Given the description of an element on the screen output the (x, y) to click on. 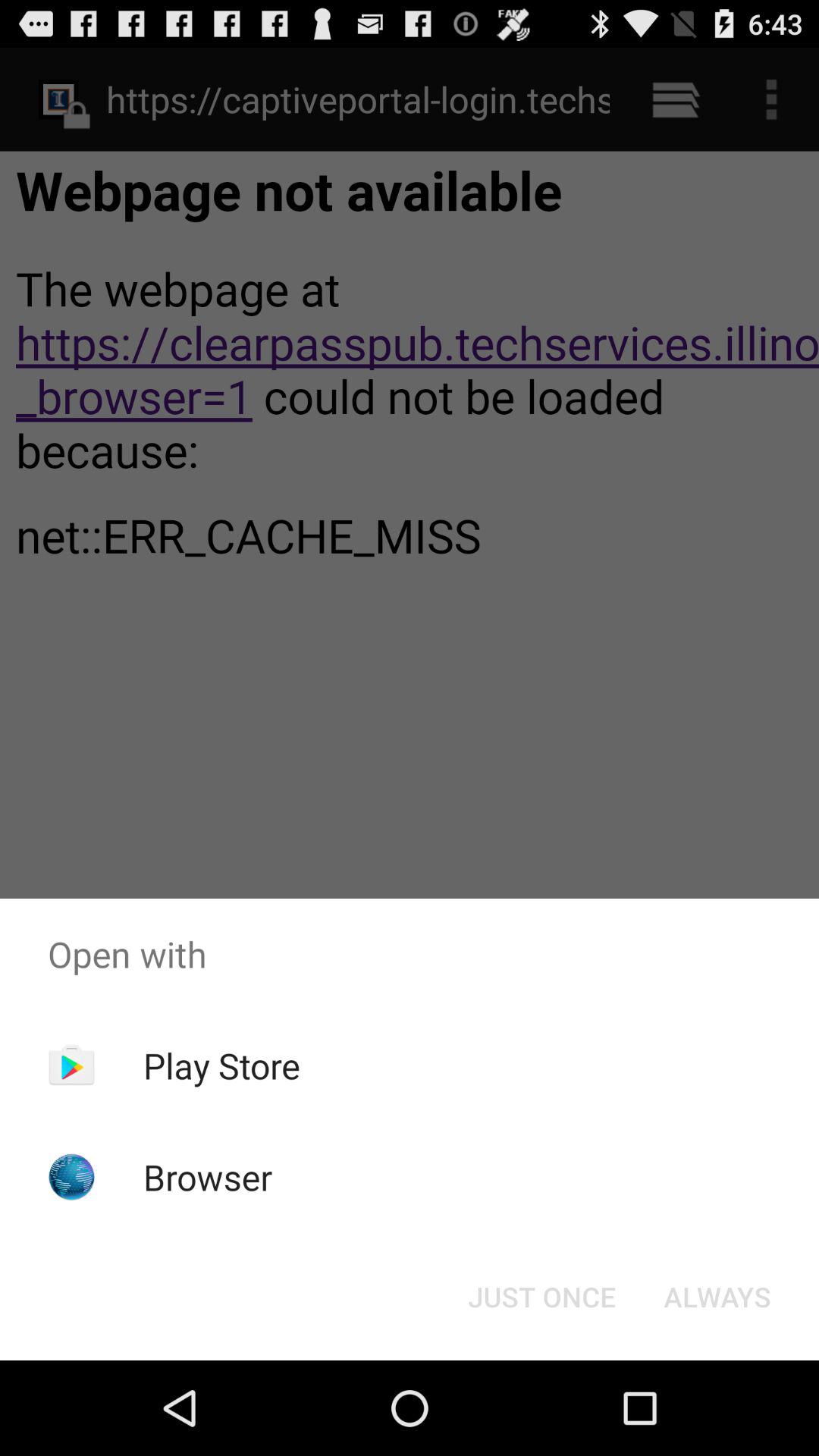
click app above browser app (221, 1065)
